Given the description of an element on the screen output the (x, y) to click on. 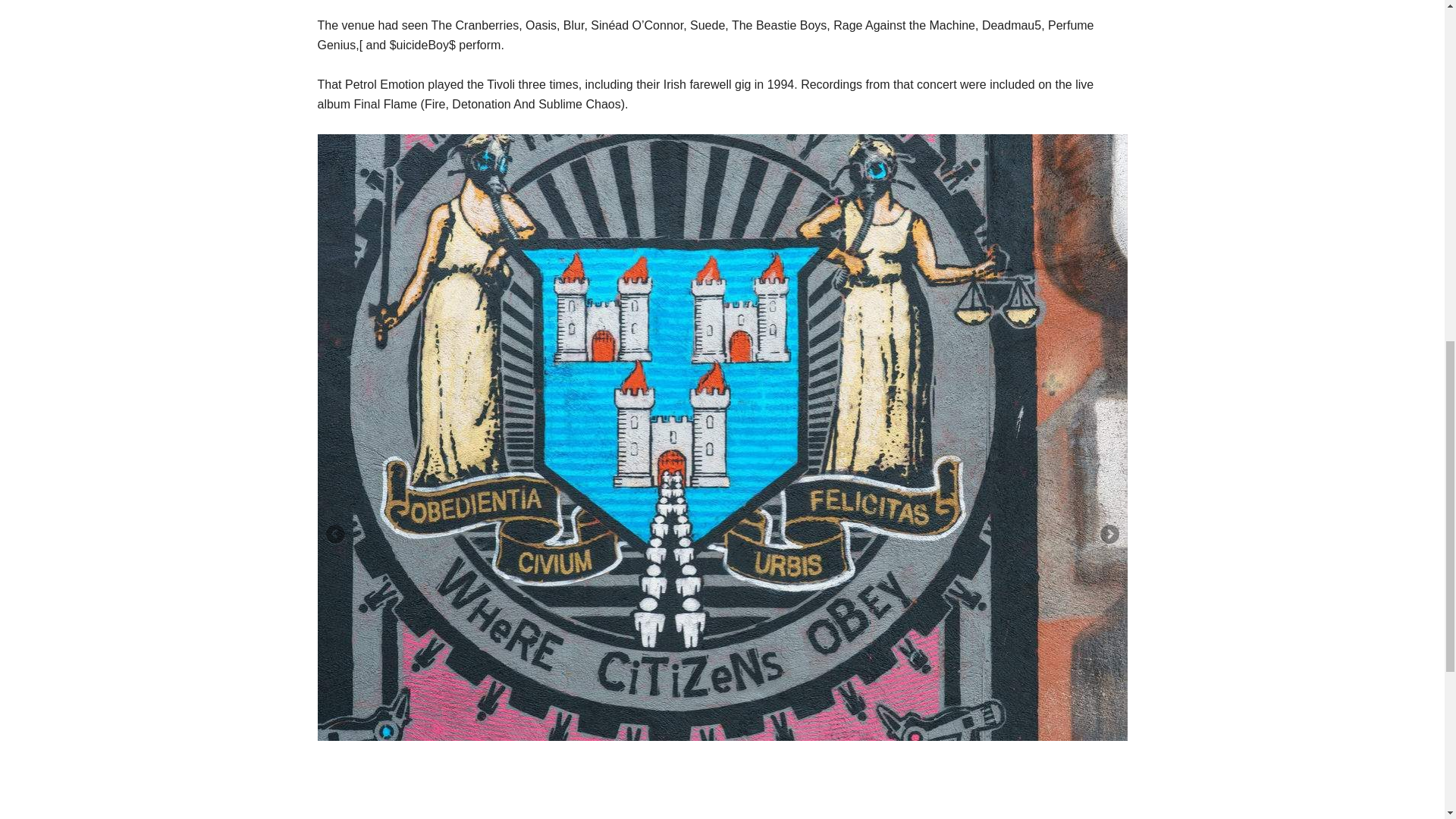
Previous (335, 535)
Next (1107, 535)
